Given the description of an element on the screen output the (x, y) to click on. 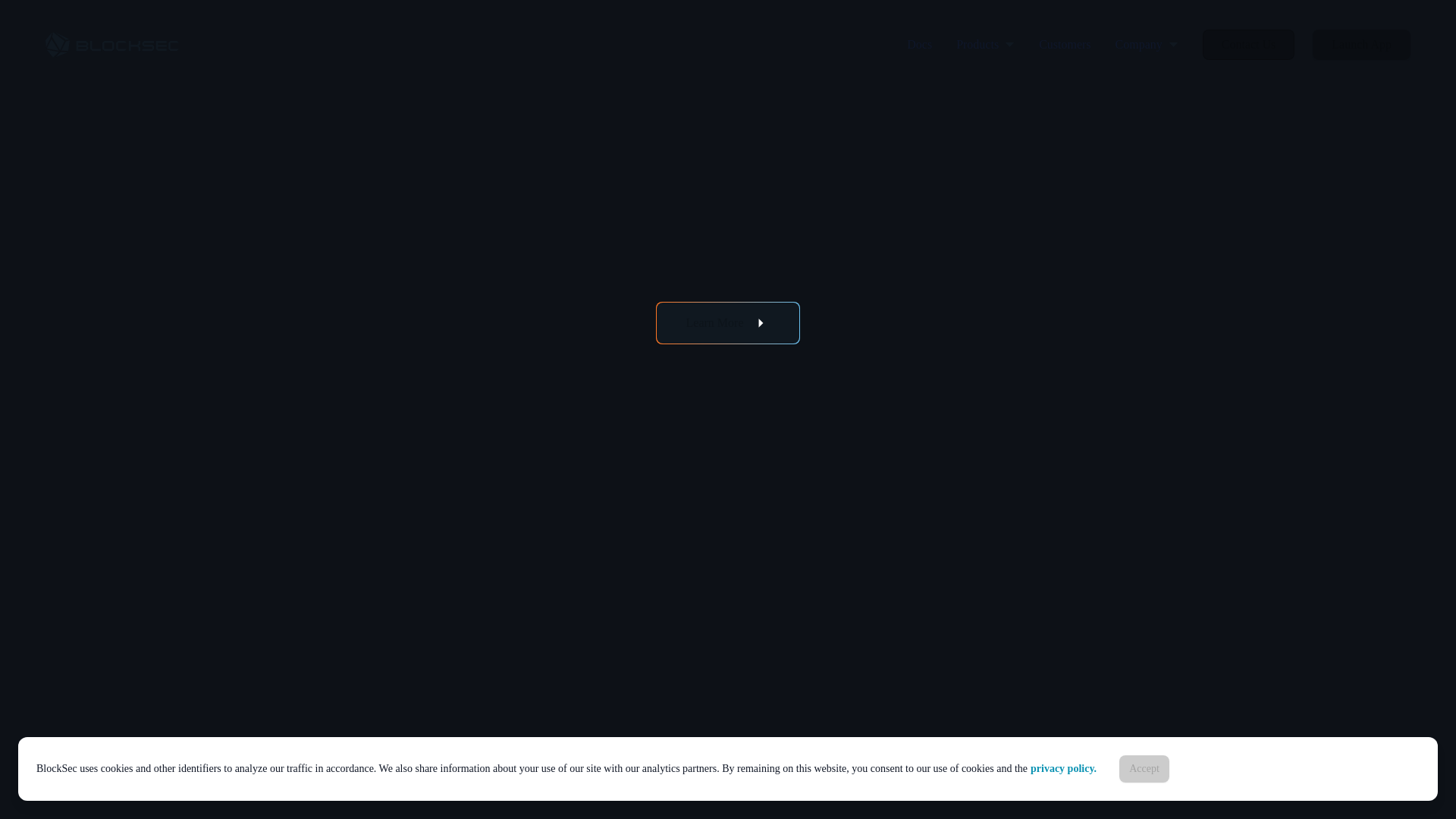
Learn More (728, 322)
Learn More (727, 322)
